Given the description of an element on the screen output the (x, y) to click on. 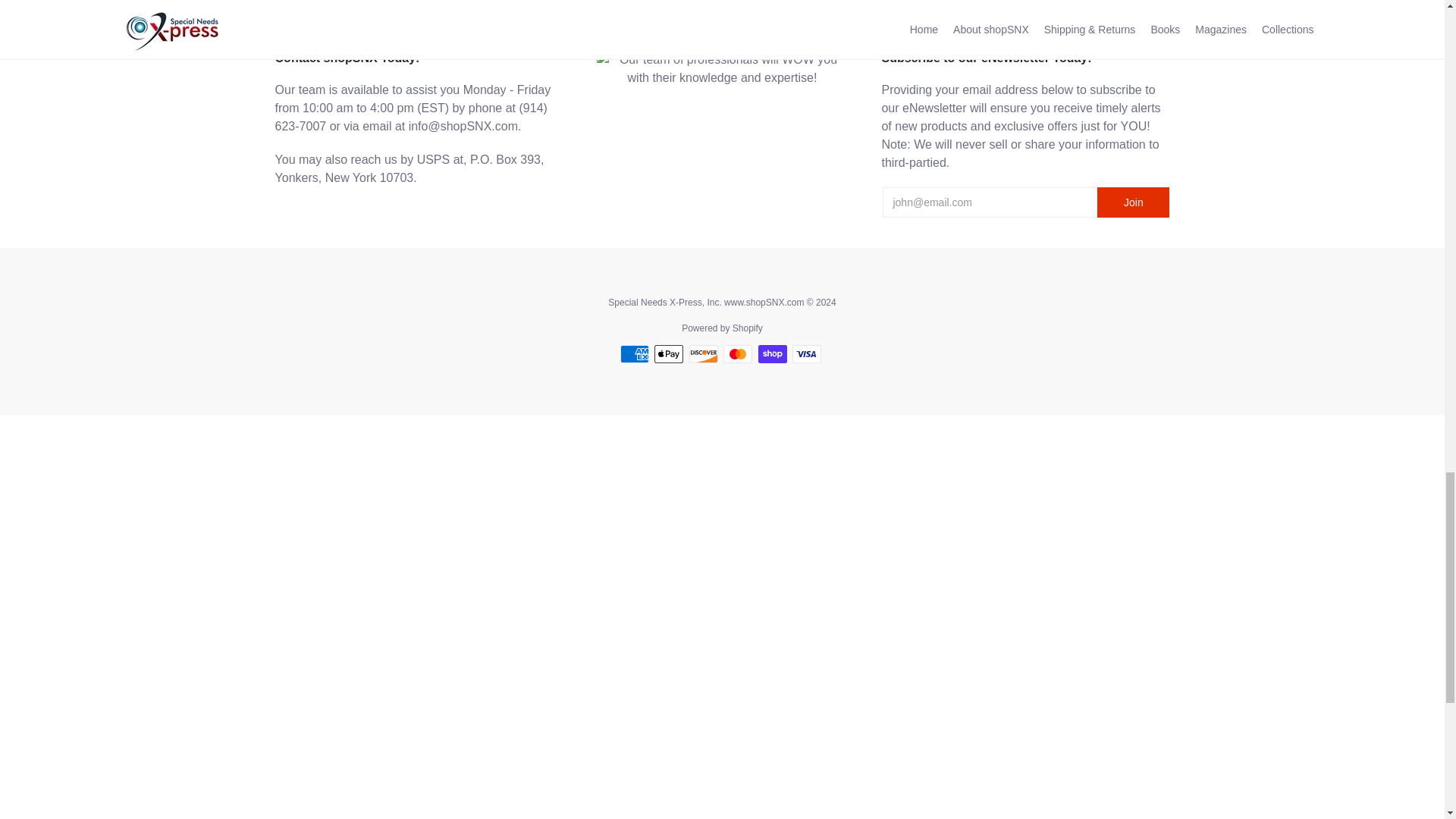
Discover (702, 353)
American Express (634, 353)
Mastercard (737, 353)
Join (1133, 202)
Apple Pay (667, 353)
Visa (806, 353)
Shop Pay (772, 353)
